Given the description of an element on the screen output the (x, y) to click on. 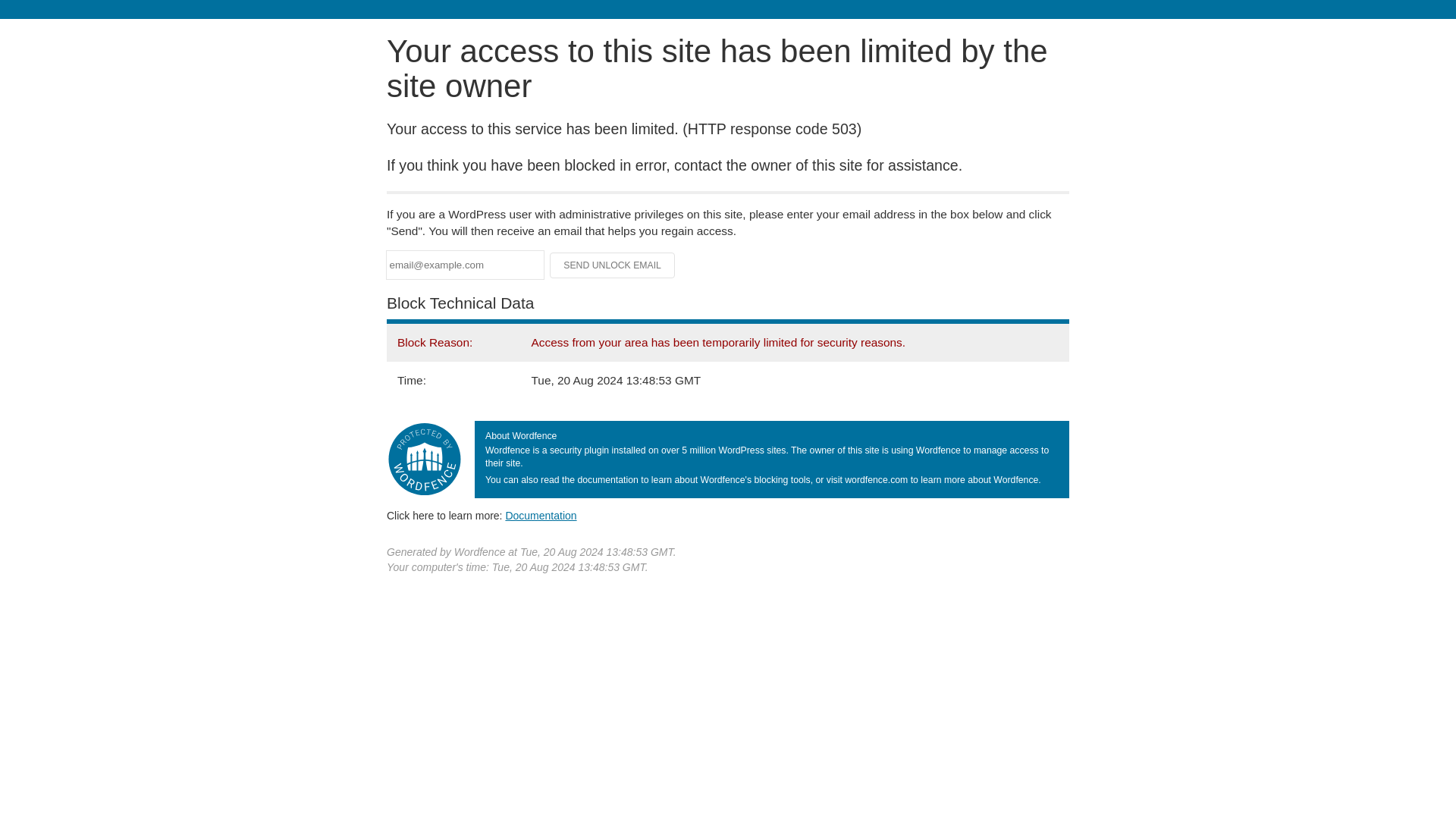
Send Unlock Email (612, 265)
Send Unlock Email (612, 265)
Documentation (540, 515)
